Given the description of an element on the screen output the (x, y) to click on. 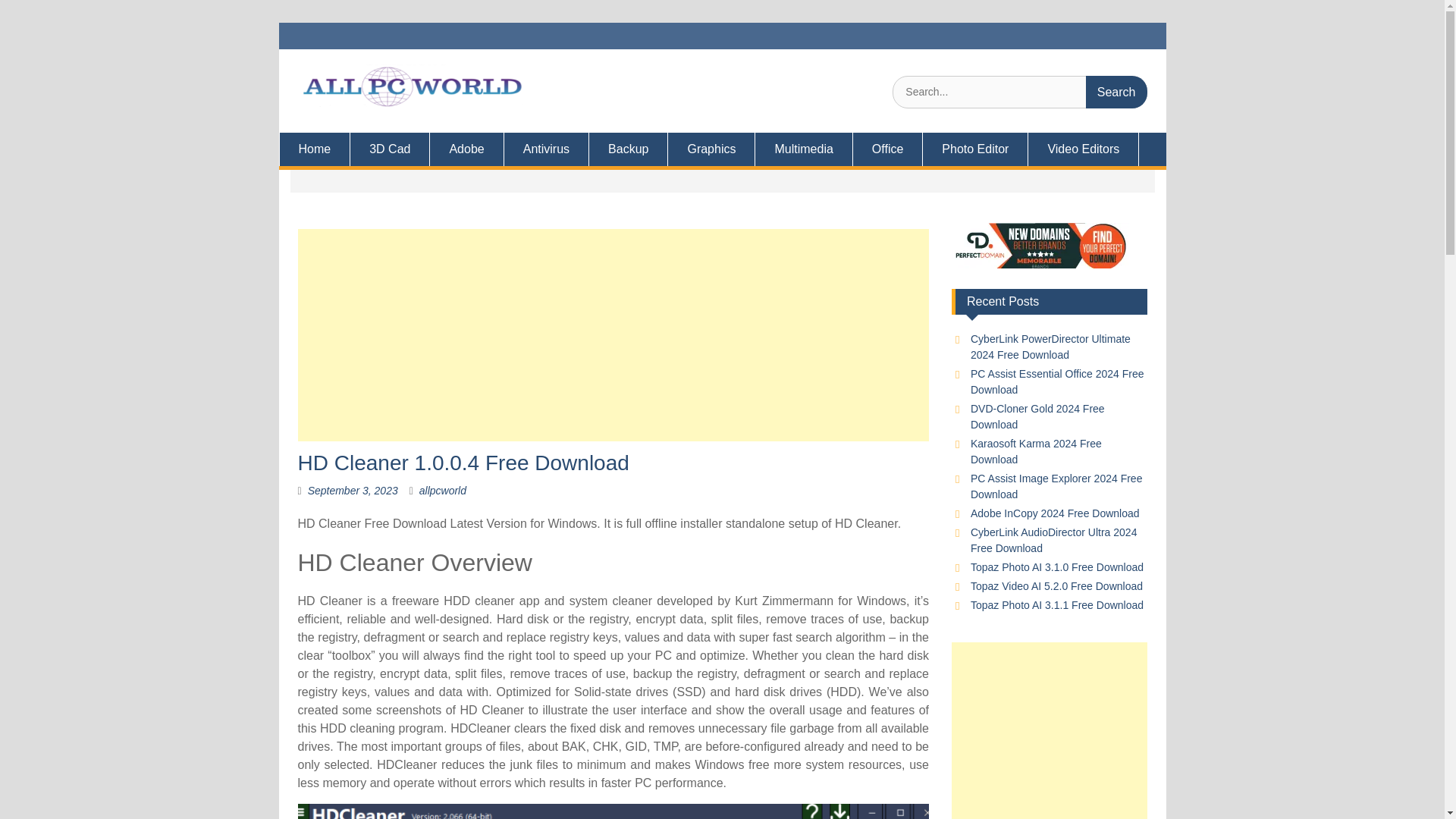
September 3, 2023 (352, 490)
Search (1116, 92)
Home (314, 149)
Search for: (1019, 92)
Multimedia (803, 149)
Office (888, 149)
Advertisement (612, 335)
Search (1116, 92)
Photo Editor (975, 149)
Video Editors (1082, 149)
allpcworld (442, 490)
Backup (628, 149)
Advertisement (1049, 730)
Graphics (711, 149)
